Given the description of an element on the screen output the (x, y) to click on. 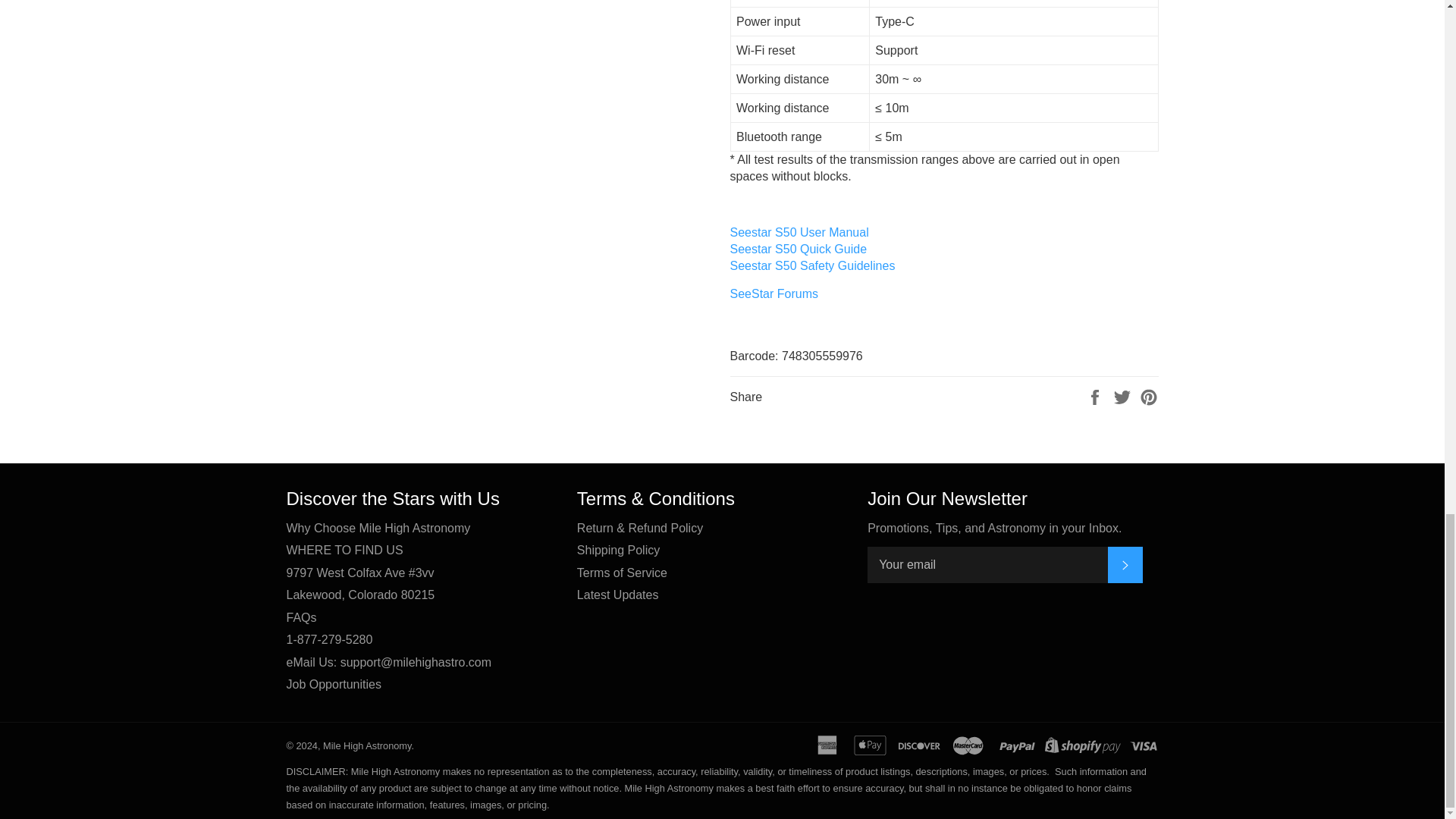
Seestar S50 Quick Guide (797, 248)
Seestar S50 User Manual (798, 232)
Share on Facebook (1096, 396)
Tweet on Twitter (1123, 396)
Pin on Pinterest (1148, 396)
Seestar S50 Safety Guidelines (812, 265)
